Given the description of an element on the screen output the (x, y) to click on. 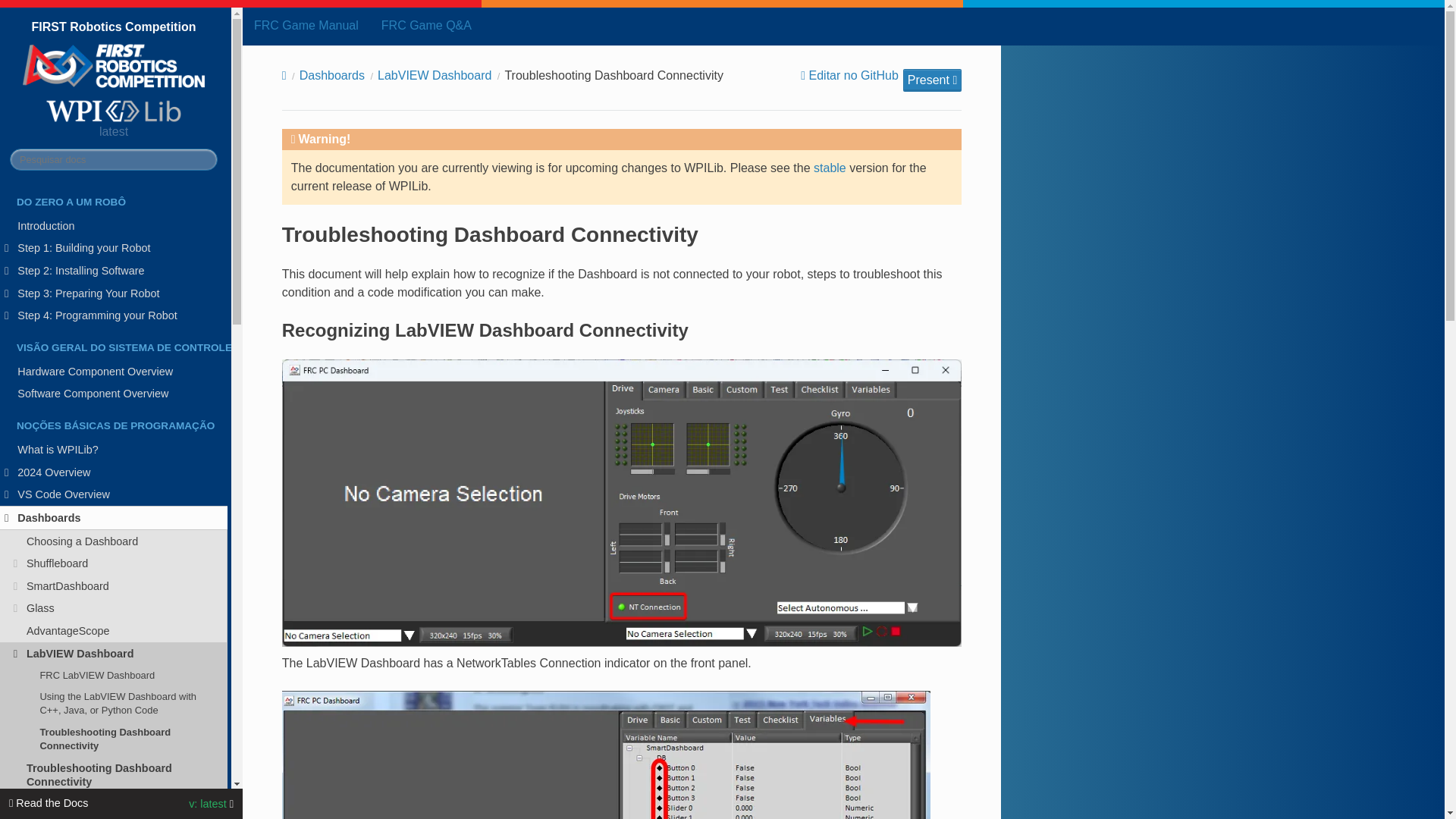
VS Code Overview (113, 495)
What is WPILib? (113, 449)
Hardware Component Overview (113, 371)
FRC Game Manual (305, 24)
Software Component Overview (113, 394)
Step 1: Building your Robot (113, 248)
2024 Overview (113, 472)
FIRST Robotics Competition (113, 73)
Introduction (113, 225)
Step 2: Installing Software (113, 270)
